Given the description of an element on the screen output the (x, y) to click on. 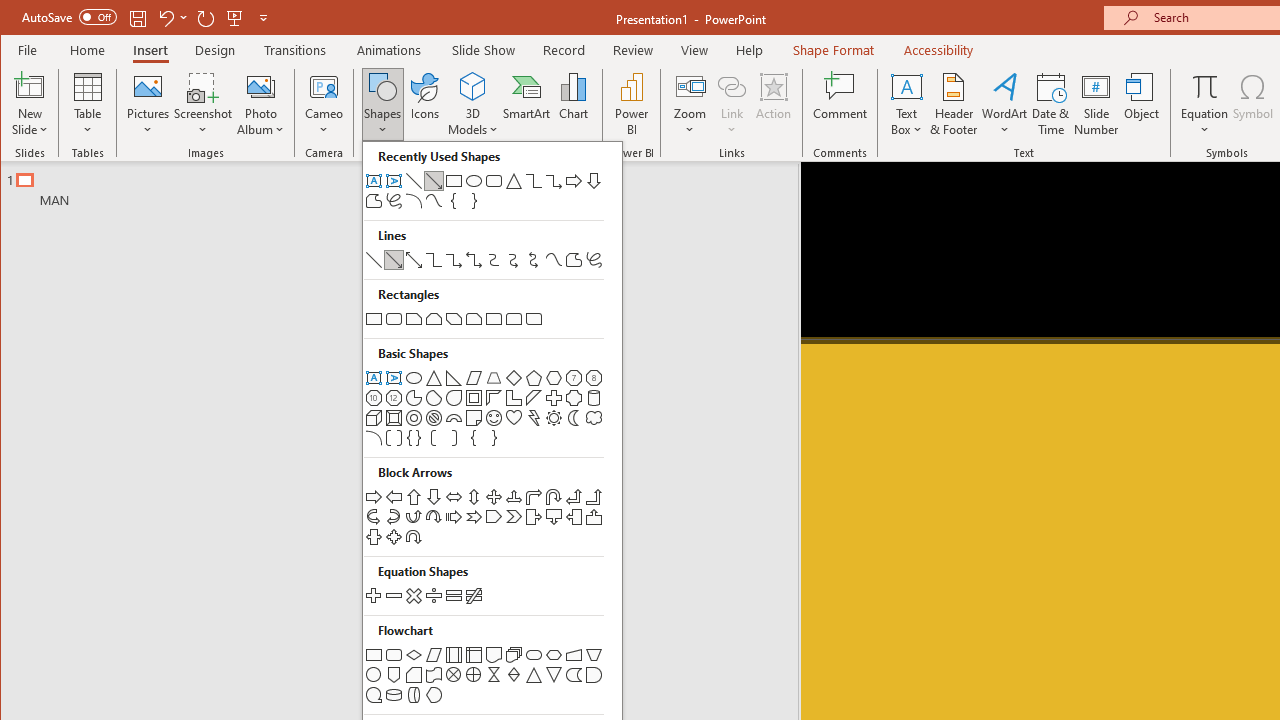
Pictures (148, 104)
Photo Album... (260, 104)
Cameo (324, 104)
New Photo Album... (260, 86)
Date & Time... (1051, 104)
WordArt (1005, 104)
Link (731, 86)
Shape Format (833, 50)
